Given the description of an element on the screen output the (x, y) to click on. 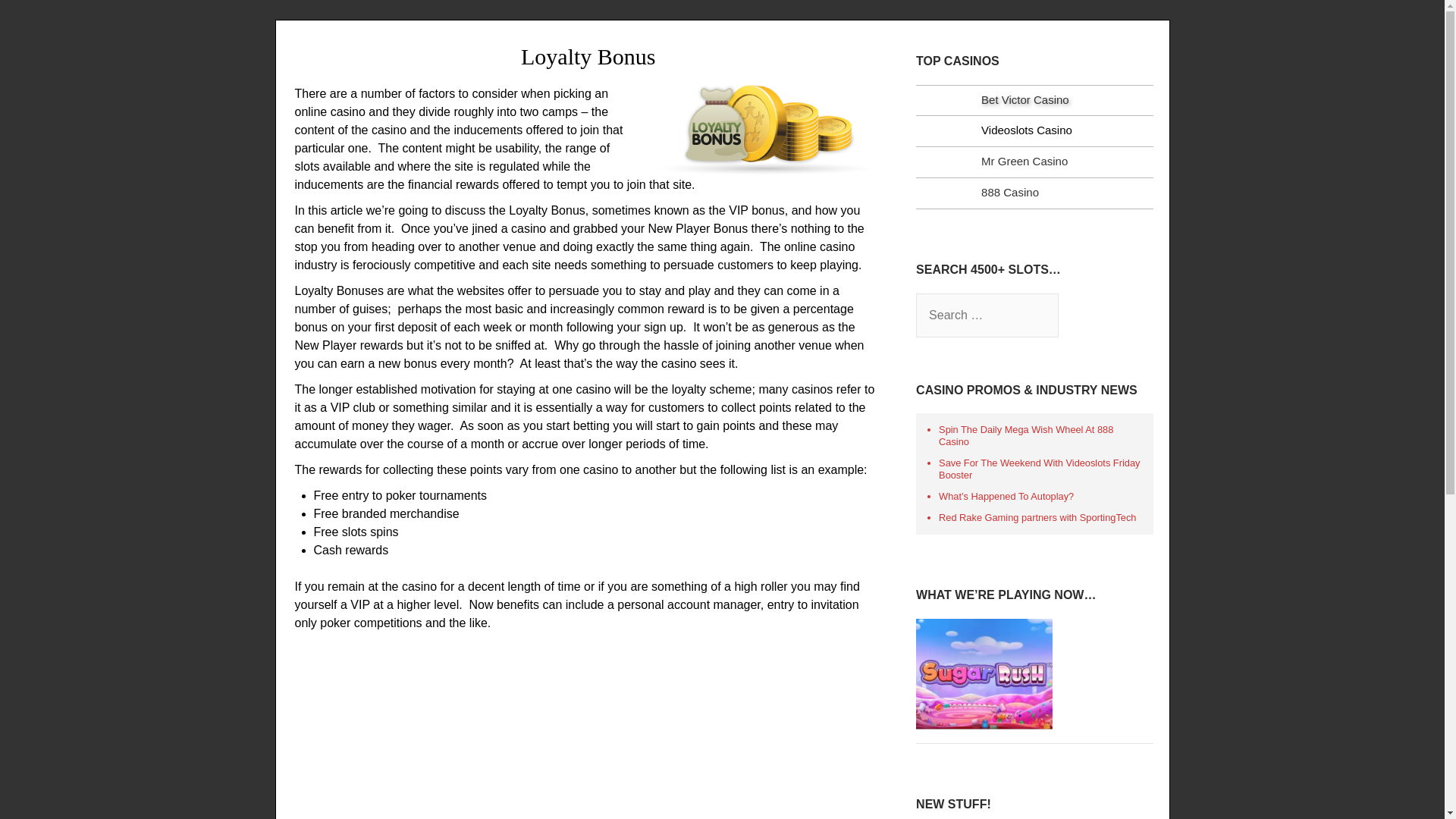
Videoslots Casino (1026, 129)
Save For The Weekend With Videoslots Friday Booster (1042, 469)
Mr Green Casino (1024, 160)
sugar rush slider (983, 674)
888 Casino (1010, 192)
Bet Victor Casino (1024, 99)
Search (289, 22)
Red Rake Gaming partners with SportingTech (1042, 517)
Spin The Daily Mega Wish Wheel At 888 Casino (1042, 435)
